Given the description of an element on the screen output the (x, y) to click on. 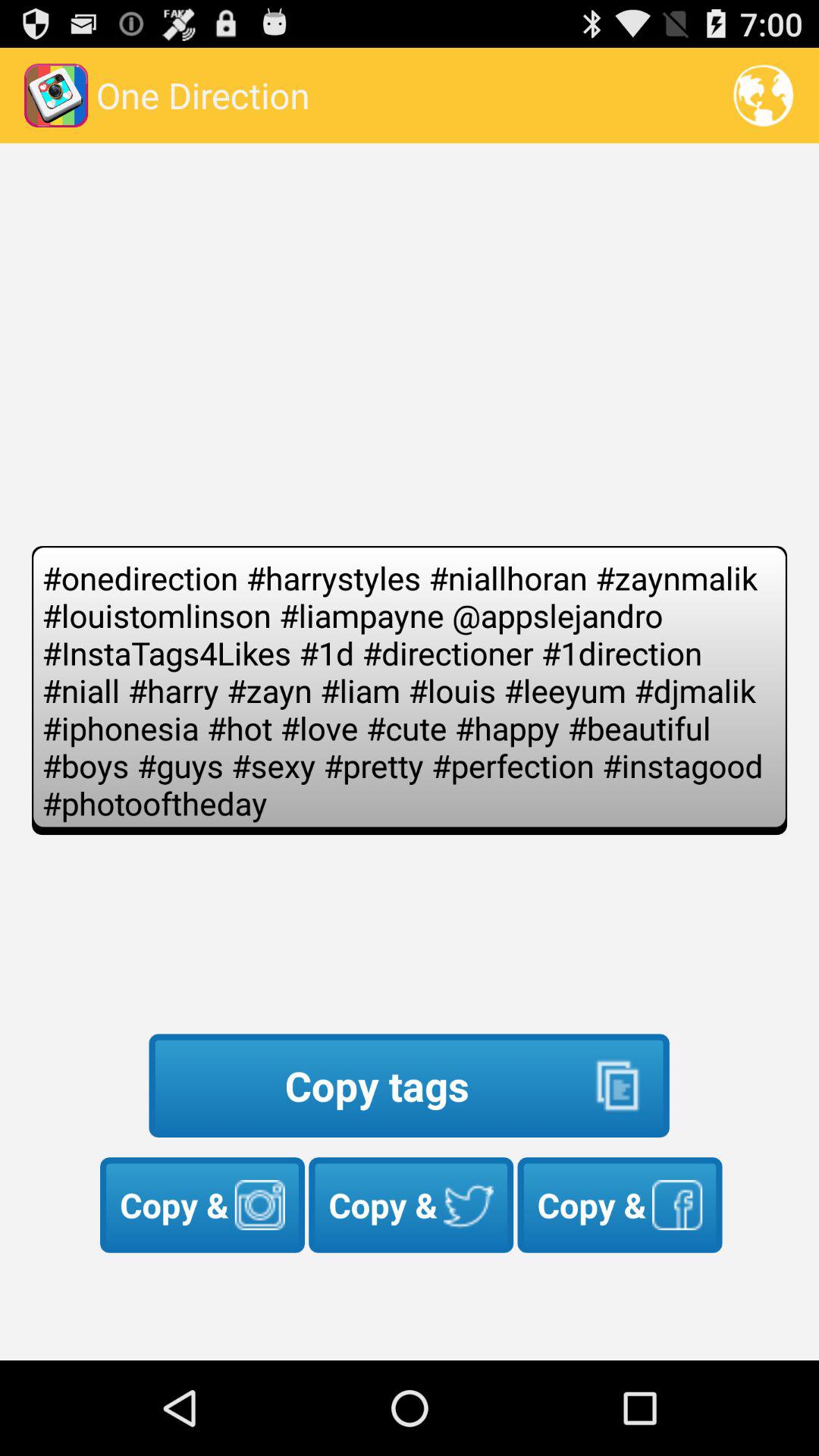
scroll to copy tags (409, 1085)
